Given the description of an element on the screen output the (x, y) to click on. 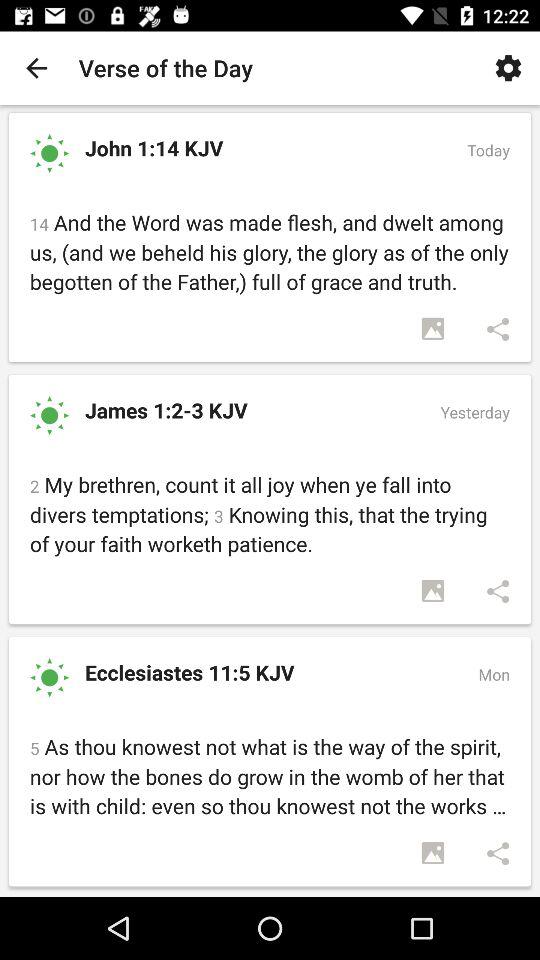
open icon next to verse of the icon (36, 68)
